Given the description of an element on the screen output the (x, y) to click on. 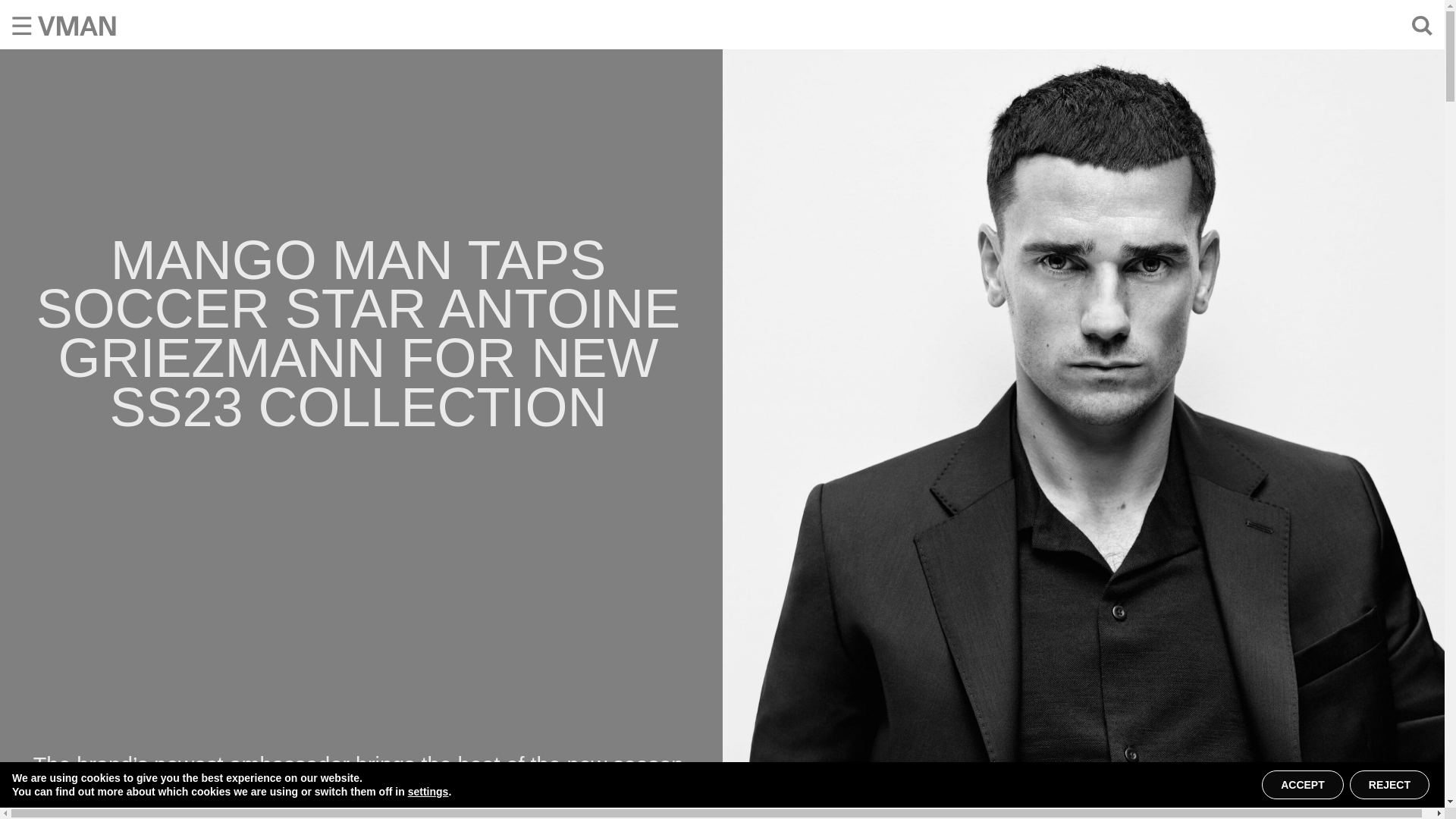
REJECT (1389, 784)
settings (427, 791)
ACCEPT (1302, 784)
